Given the description of an element on the screen output the (x, y) to click on. 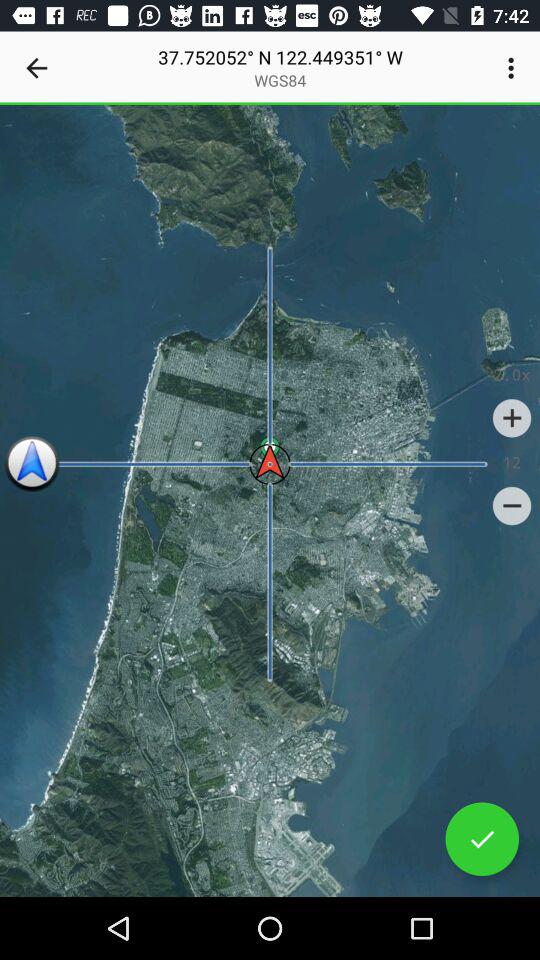
turn off icon above 12 (512, 418)
